Given the description of an element on the screen output the (x, y) to click on. 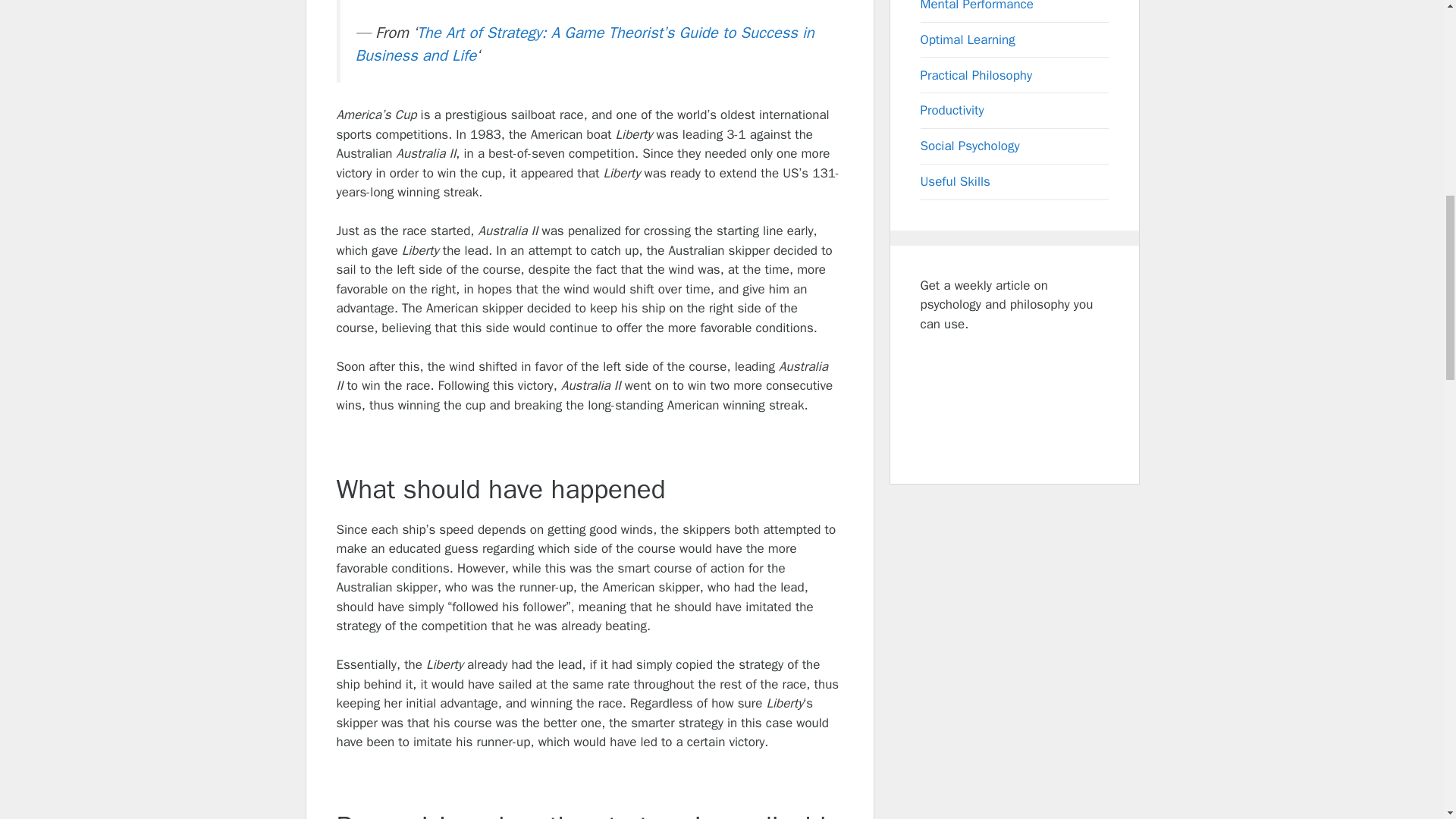
Productivity (952, 109)
Practical Philosophy (976, 75)
Useful Skills (955, 181)
Optimal Learning (967, 39)
Social Psychology (970, 145)
Mental Performance (976, 6)
